Given the description of an element on the screen output the (x, y) to click on. 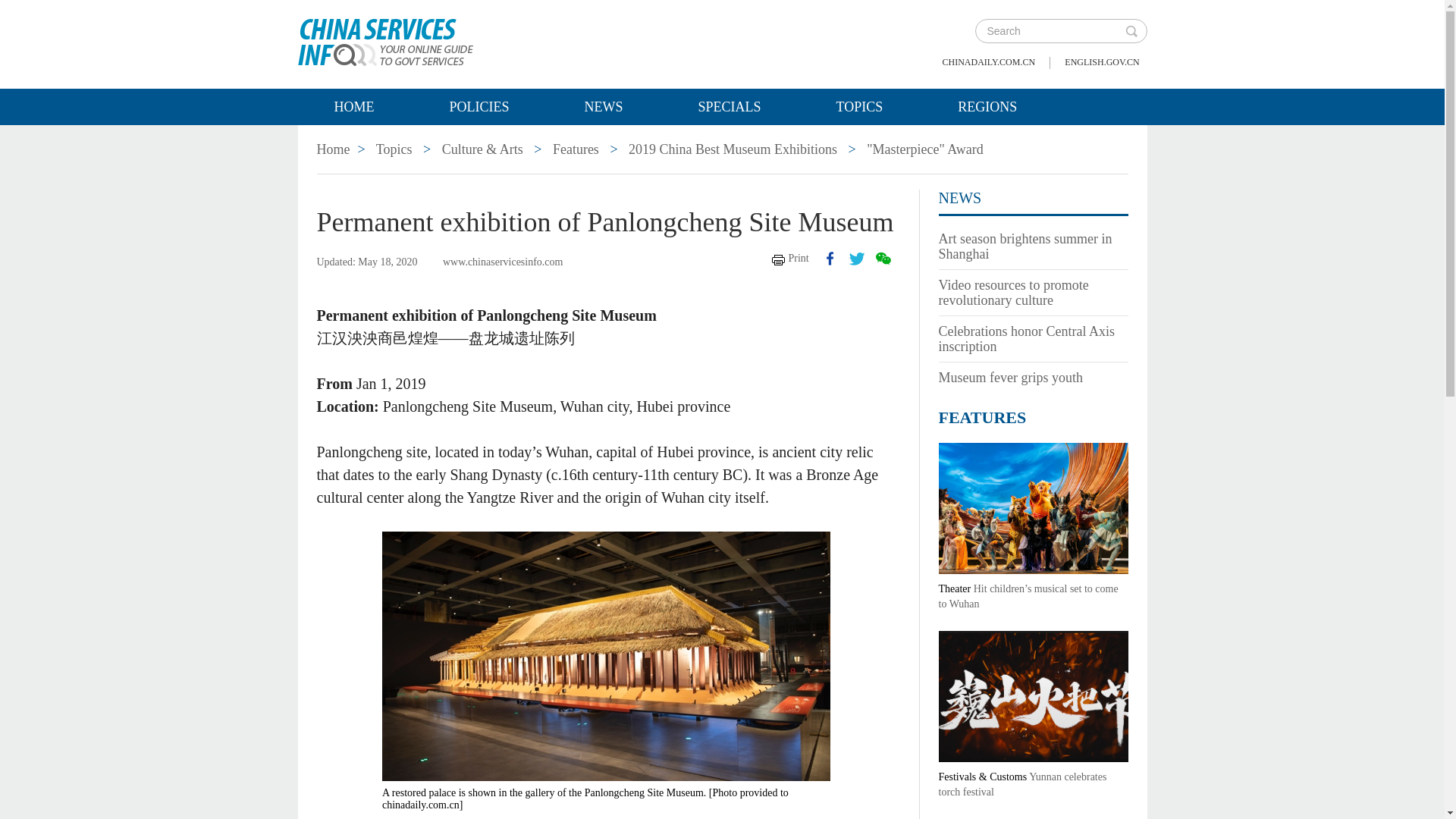
english.gov.cn (1101, 61)
REGIONS (986, 106)
twitter (856, 258)
Celebrations honor Central Axis inscription (1027, 338)
facebook (829, 258)
Topics (393, 149)
Topics (859, 106)
print (790, 258)
HOME (353, 106)
NEWS (603, 106)
ENGLISH.GOV.CN (1101, 61)
Home (333, 149)
TOPICS (859, 106)
Features (575, 149)
SPECIALS (729, 106)
